Given the description of an element on the screen output the (x, y) to click on. 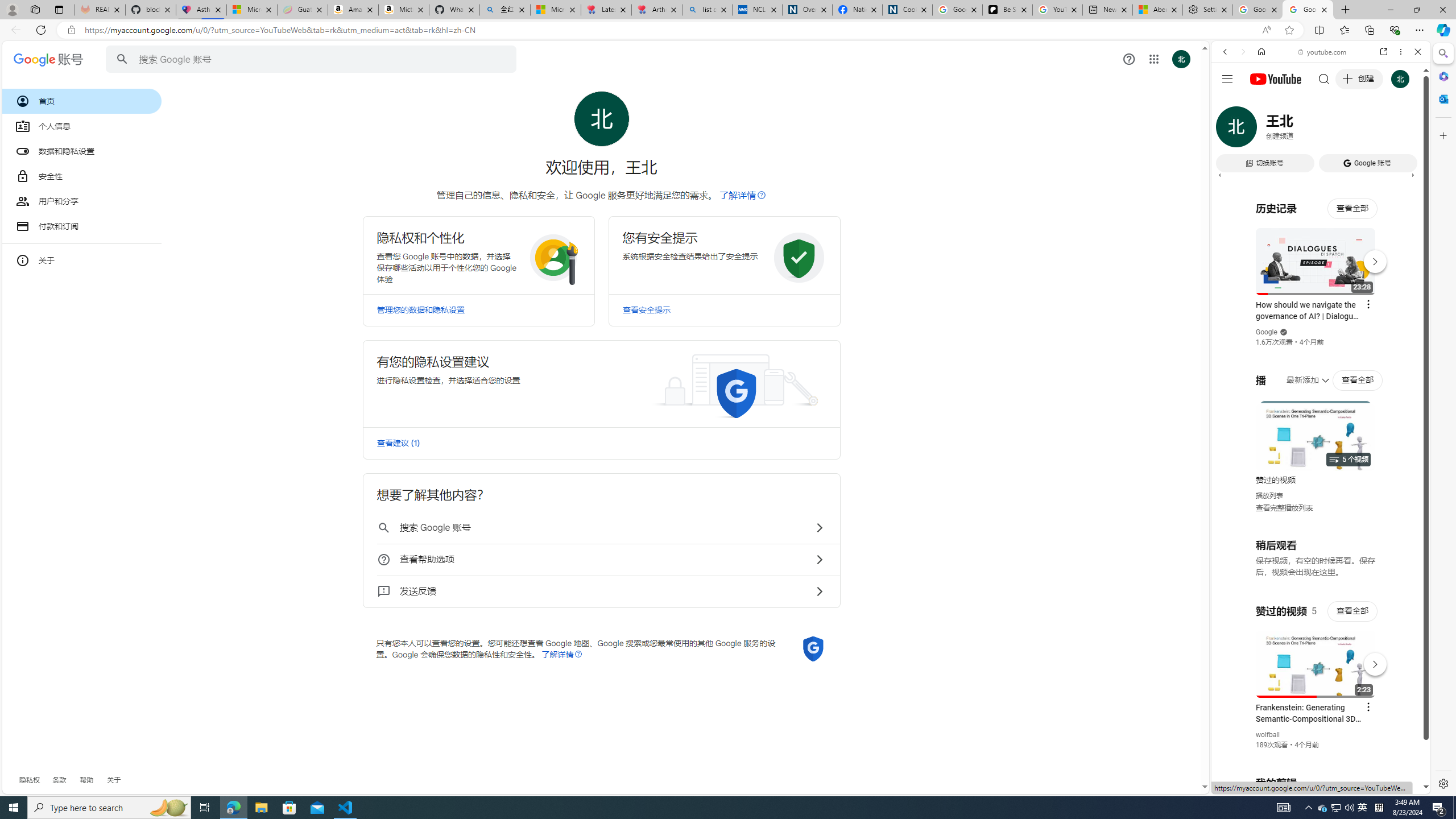
Trailer #2 [HD] (1320, 336)
